Given the description of an element on the screen output the (x, y) to click on. 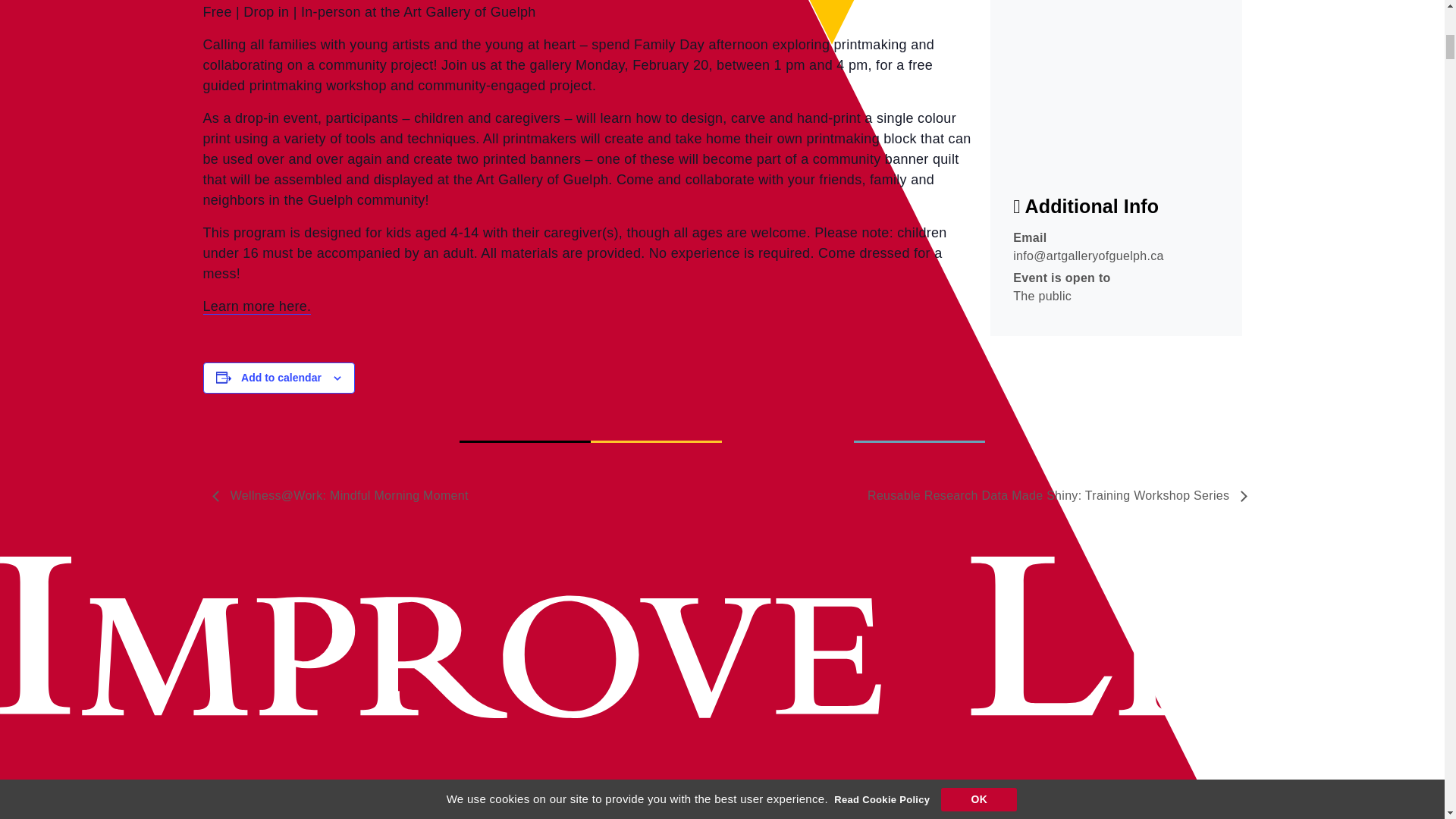
Reusable Research Data Made Shiny: Training Workshop Series (1053, 495)
Add to calendar (281, 377)
Learn more here. (257, 306)
